Given the description of an element on the screen output the (x, y) to click on. 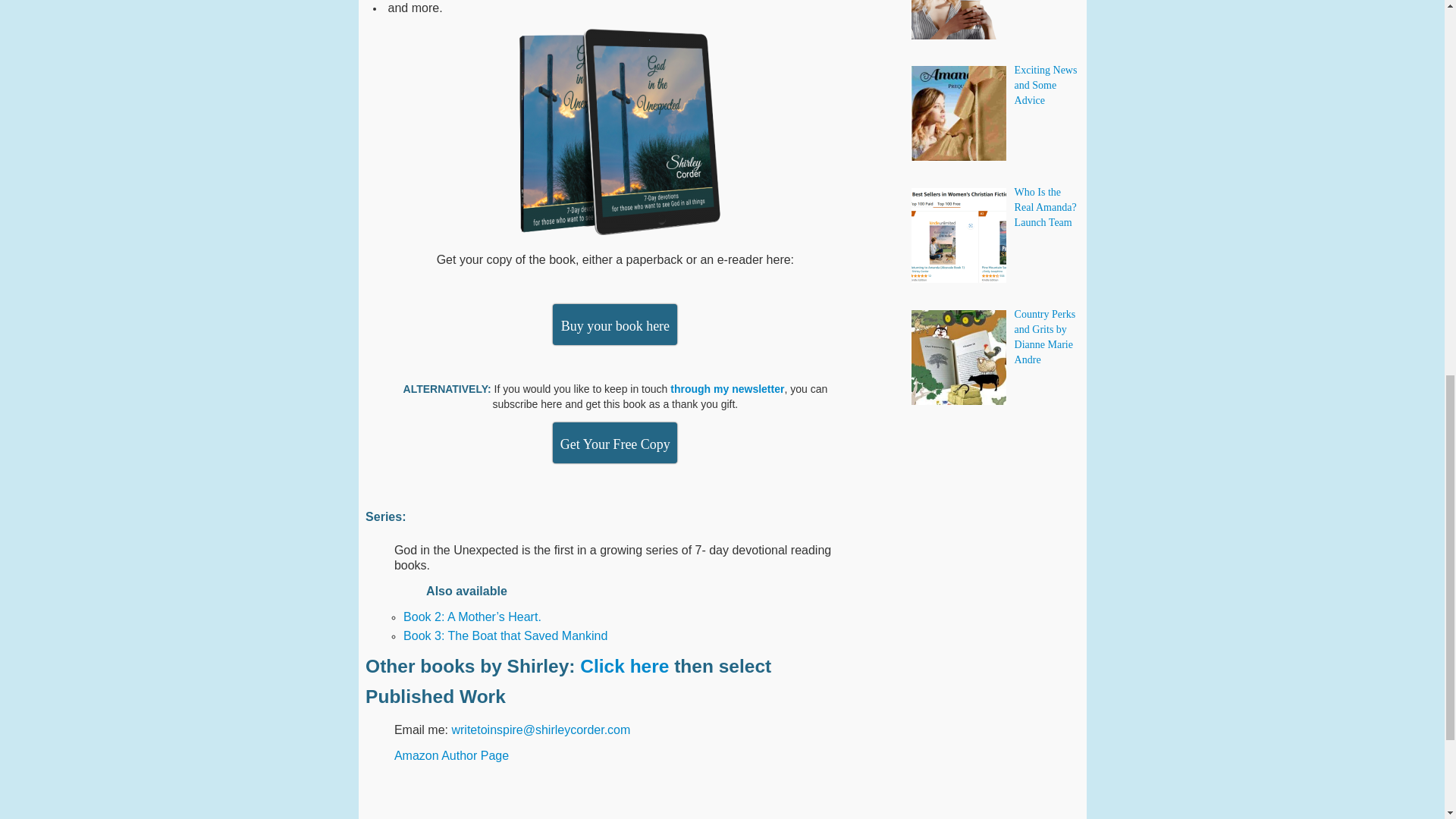
Click Here (615, 323)
Click Here (615, 442)
